Given the description of an element on the screen output the (x, y) to click on. 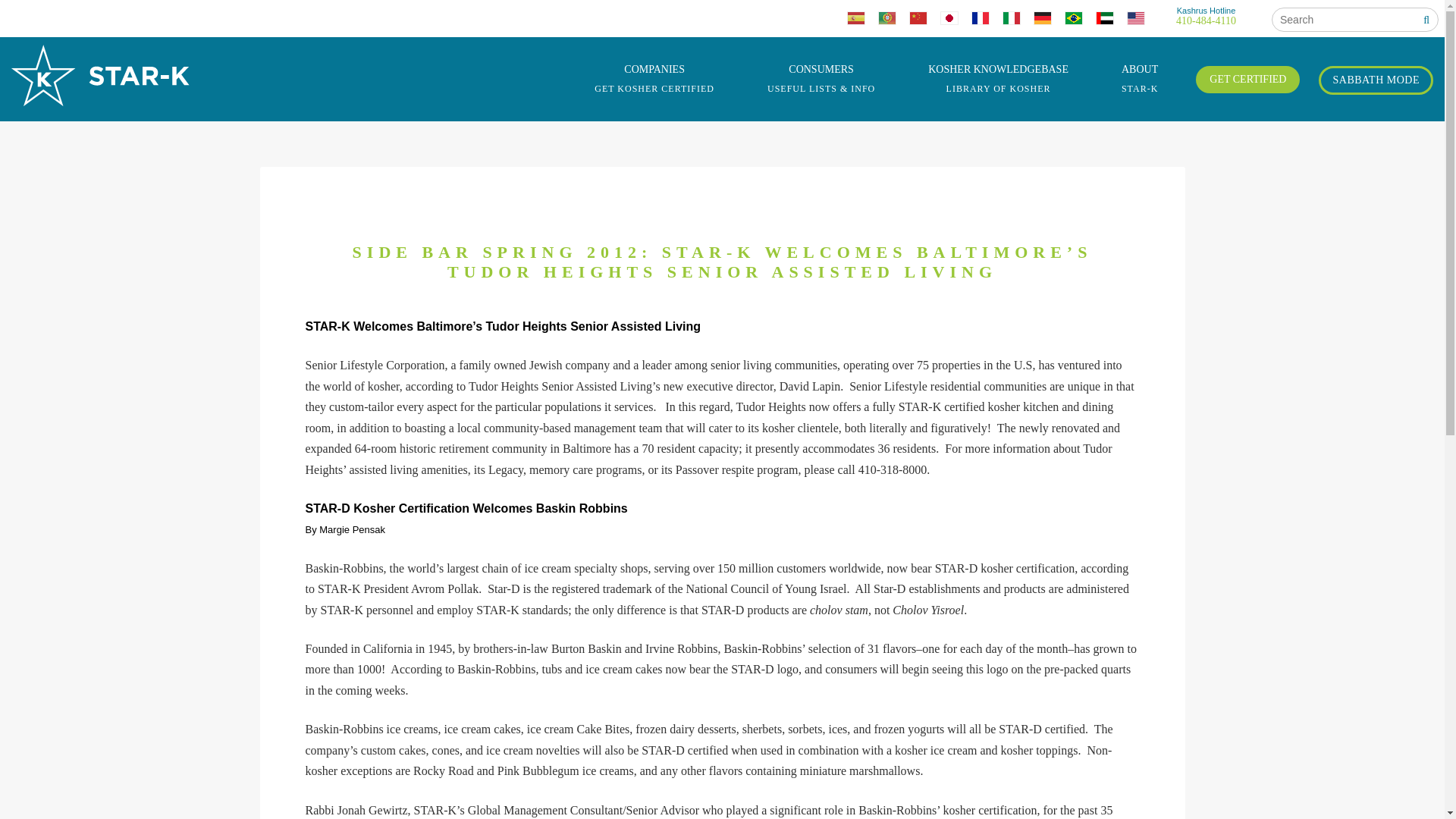
USA (1141, 21)
UAE (1111, 21)
SABBATH MODE (1375, 80)
GET CERTIFIED (997, 78)
